Given the description of an element on the screen output the (x, y) to click on. 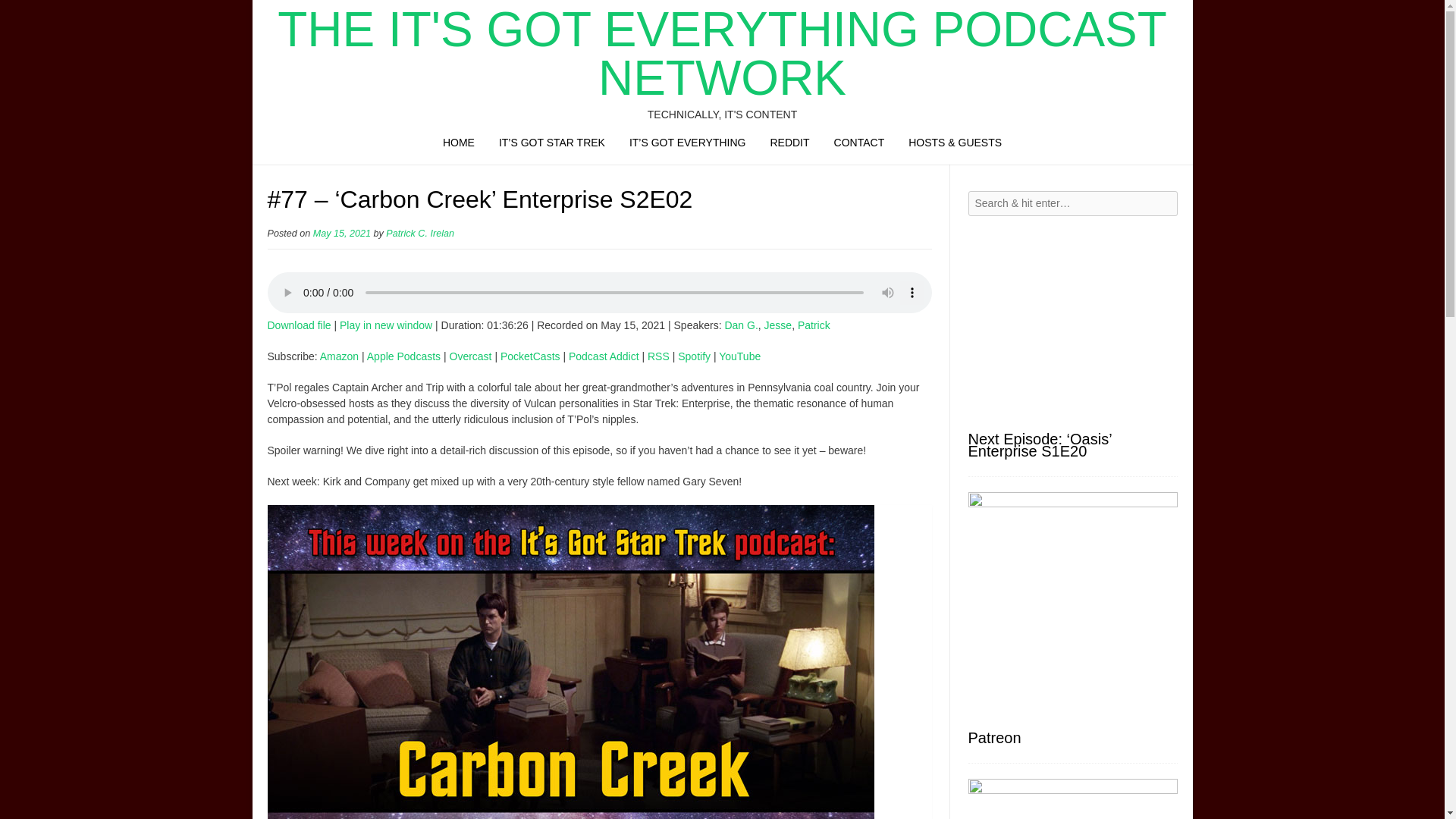
Overcast (470, 356)
REDDIT (789, 145)
CONTACT (859, 145)
Podcast Addict (604, 356)
RSS (658, 356)
Download file (298, 325)
May 15, 2021 (342, 233)
PocketCasts (530, 356)
Spotify (694, 356)
YouTube (739, 356)
